Given the description of an element on the screen output the (x, y) to click on. 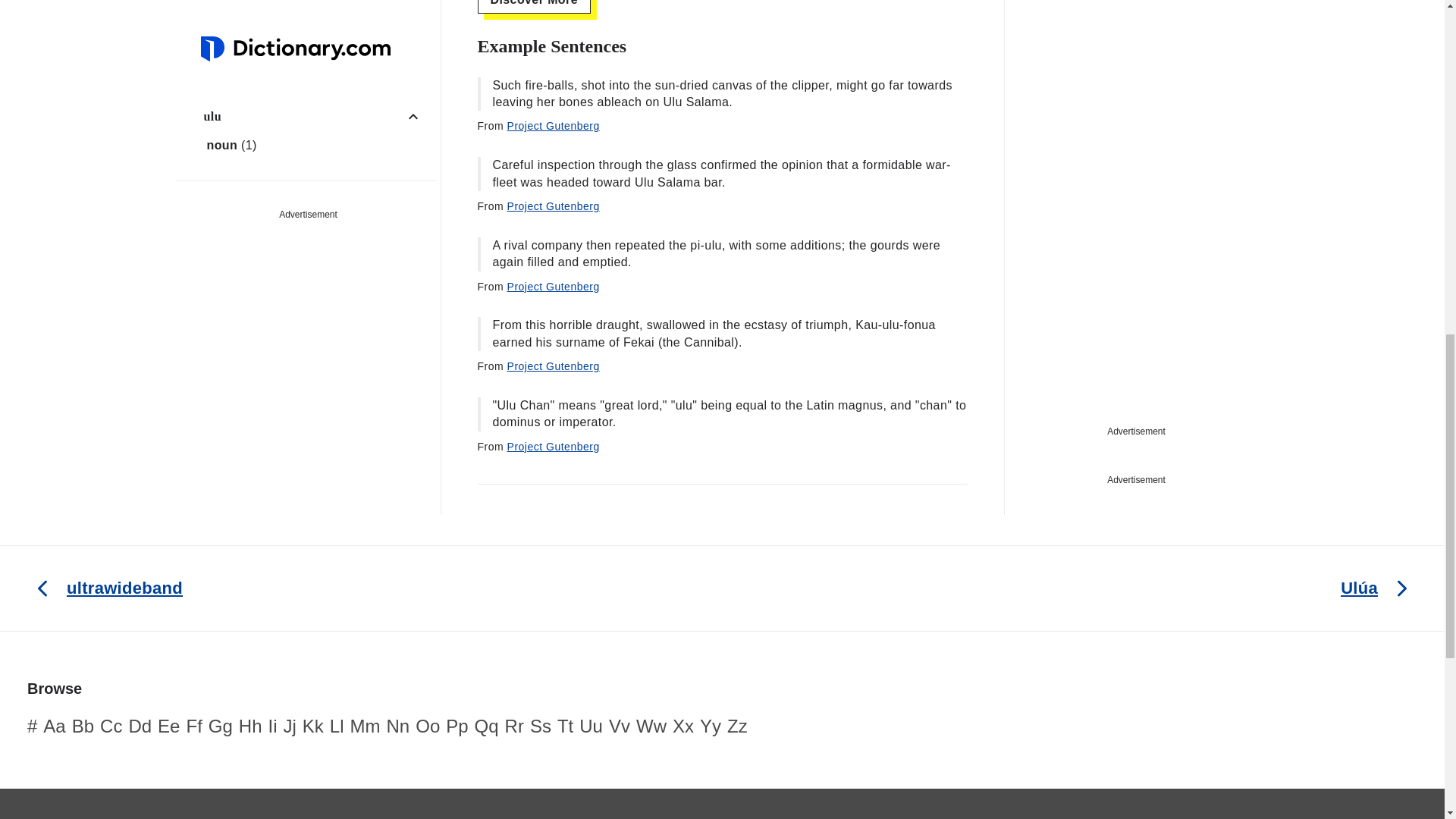
Project Gutenberg (552, 125)
Project Gutenberg (552, 205)
Project Gutenberg (552, 366)
Project Gutenberg (552, 286)
